Given the description of an element on the screen output the (x, y) to click on. 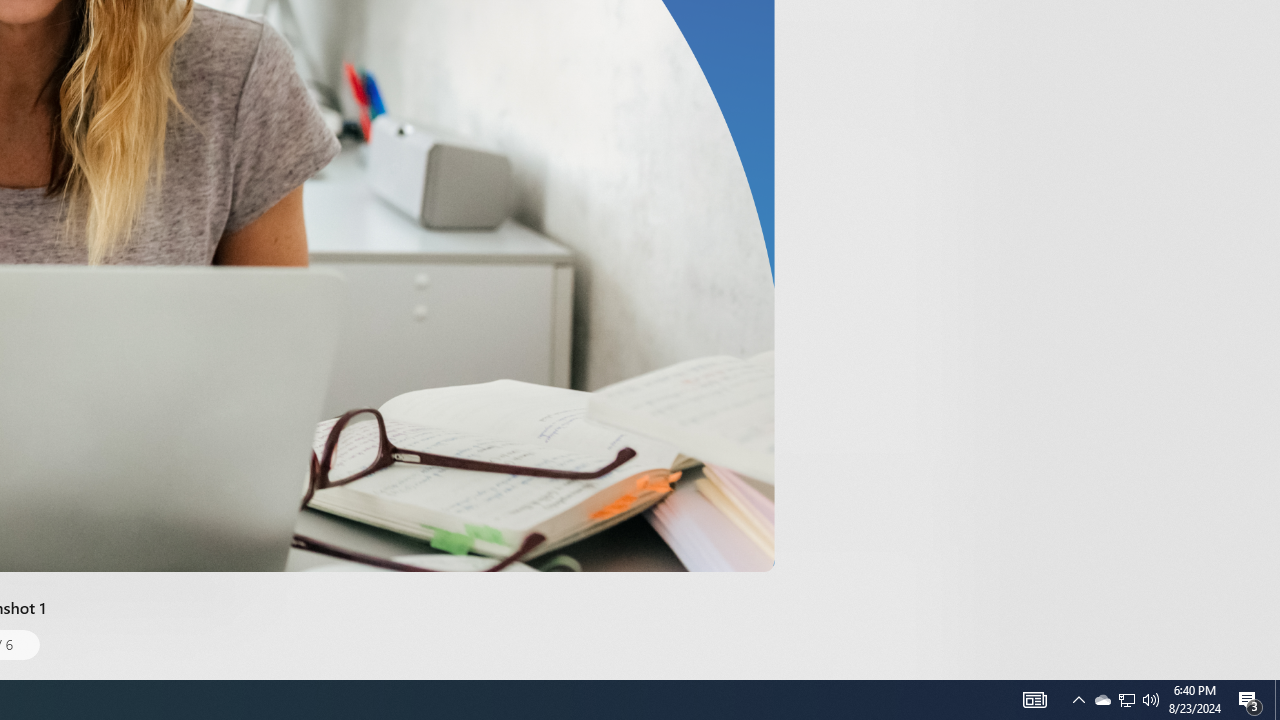
Show all ratings and reviews (924, 97)
